Given the description of an element on the screen output the (x, y) to click on. 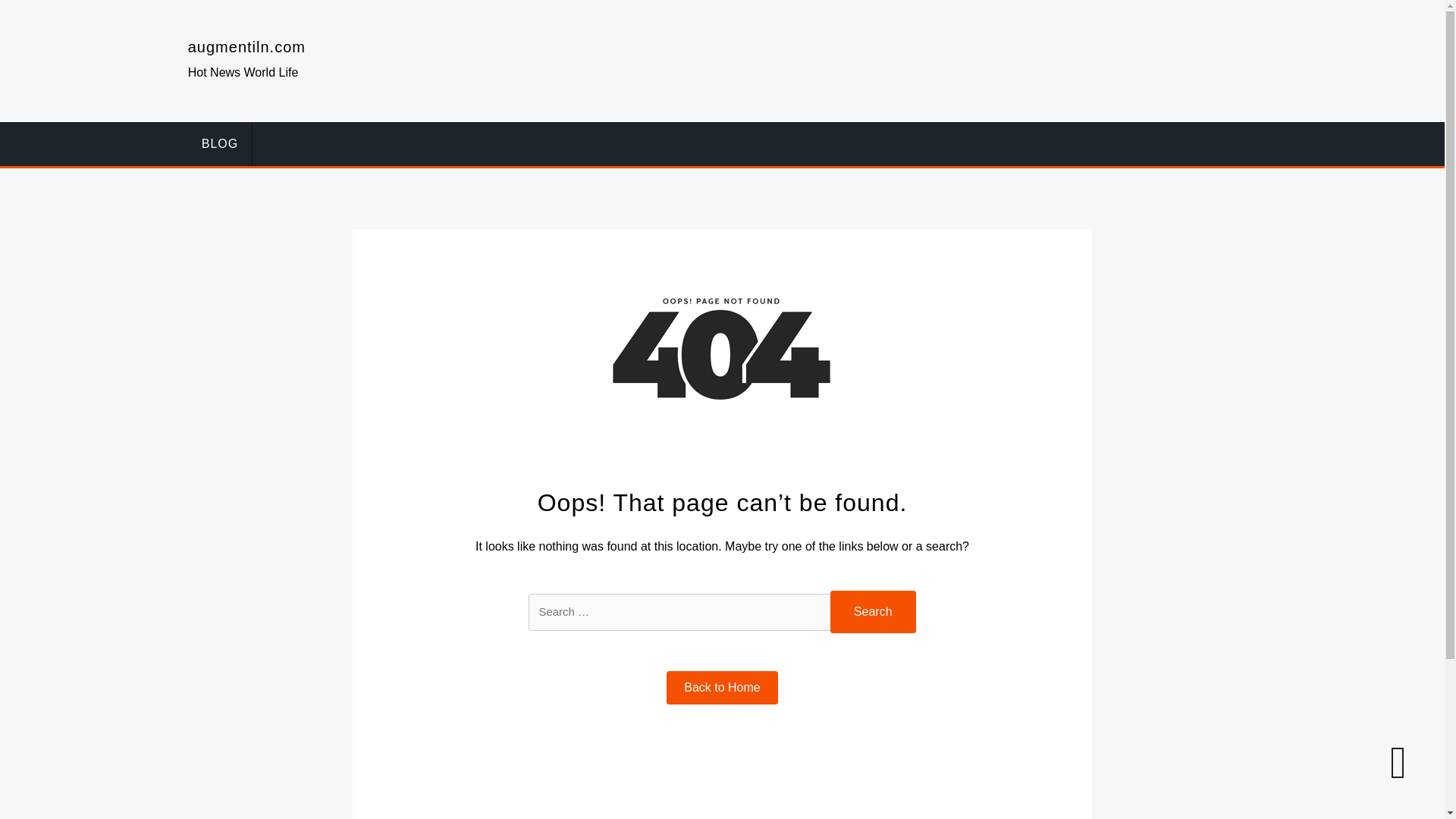
augmentiln.com (246, 46)
Search (872, 611)
Search (872, 611)
BLOG (219, 144)
Search (872, 611)
Back to Home (721, 687)
